Given the description of an element on the screen output the (x, y) to click on. 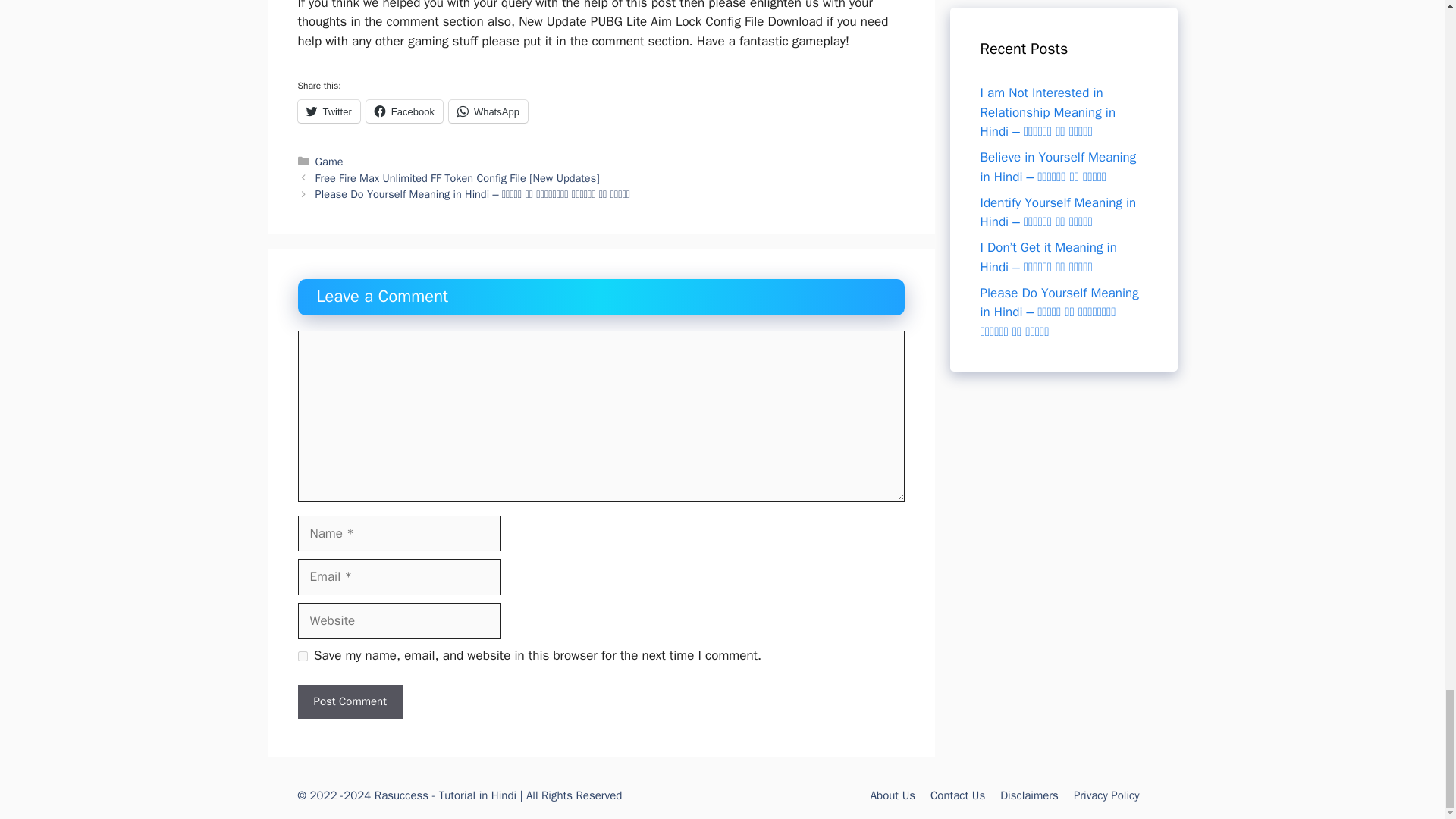
Post Comment (349, 701)
WhatsApp (487, 110)
Contact Us (957, 795)
Click to share on Facebook (404, 110)
About Us (892, 795)
Game (329, 161)
Click to share on Twitter (328, 110)
Twitter (328, 110)
Post Comment (349, 701)
Disclaimers (1029, 795)
